Given the description of an element on the screen output the (x, y) to click on. 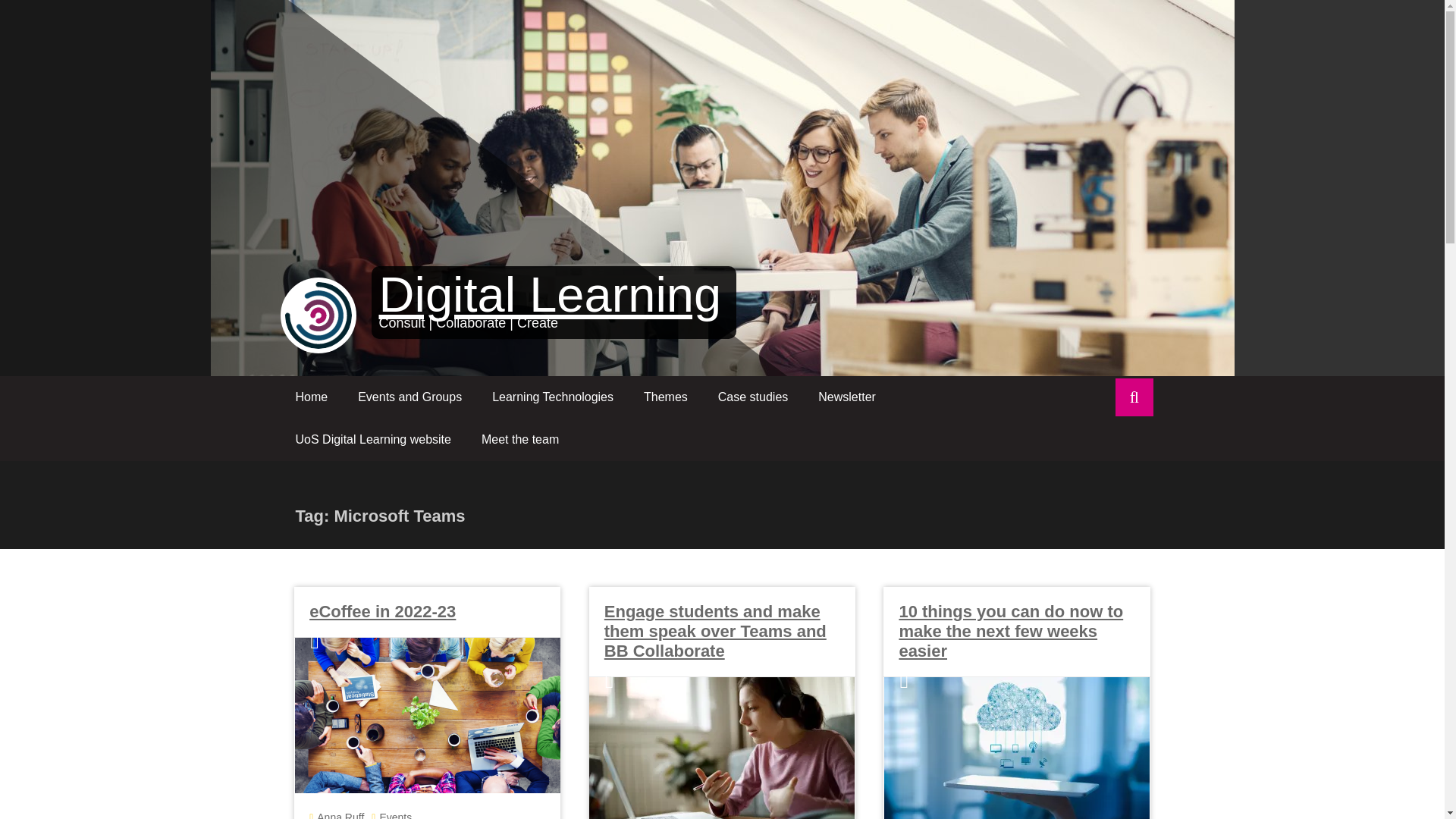
Events and Groups (409, 396)
Newsletter (847, 396)
Case studies (753, 396)
Meet the team (519, 439)
Digital Learning (550, 294)
Themes (665, 396)
UoS Digital Learning website (373, 439)
Events (395, 815)
Home (312, 396)
Anna Ruff (340, 815)
Learning Technologies (552, 396)
eCoffee in 2022-23 (381, 610)
